Given the description of an element on the screen output the (x, y) to click on. 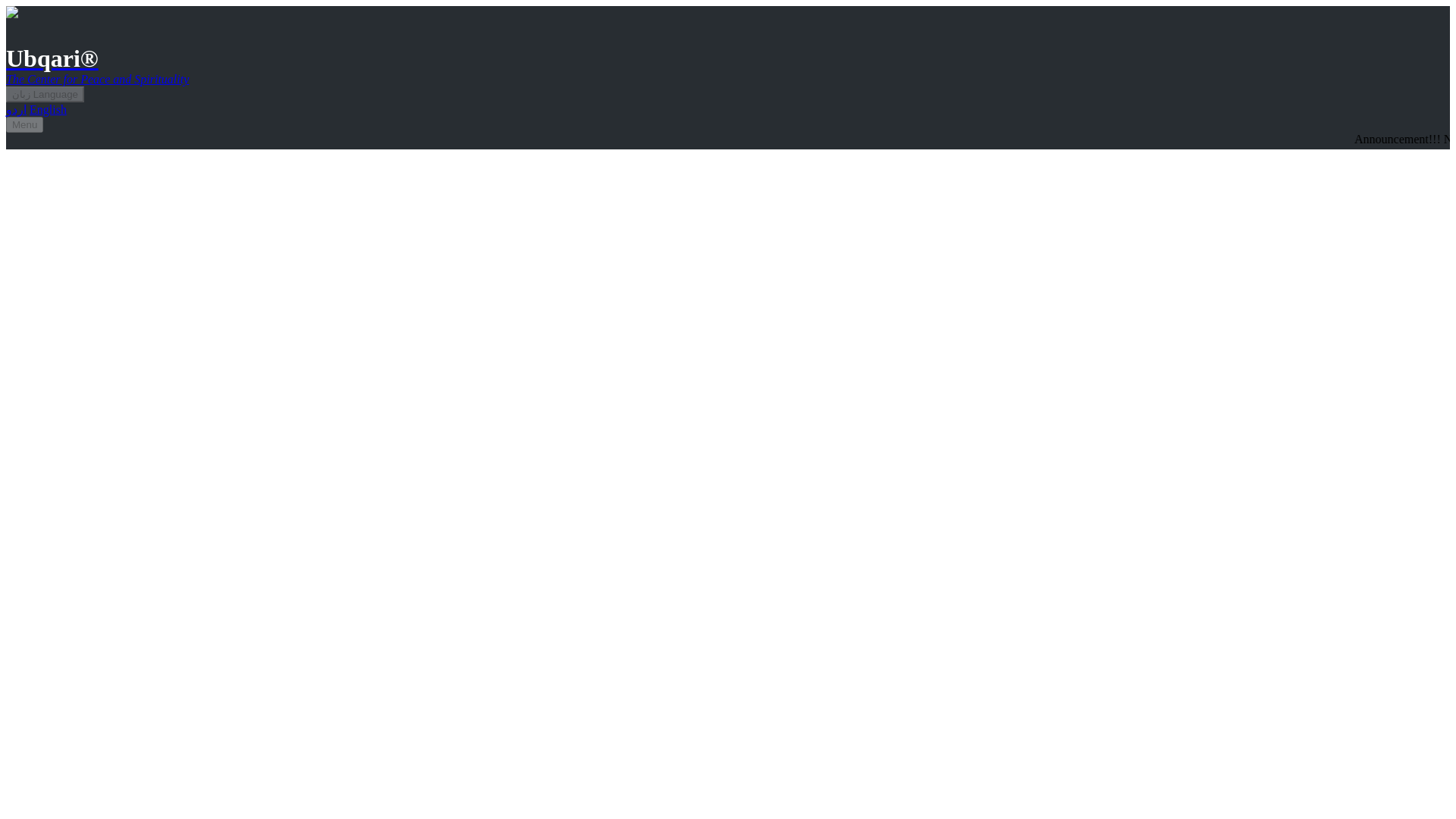
Menu (24, 124)
English (47, 109)
